Given the description of an element on the screen output the (x, y) to click on. 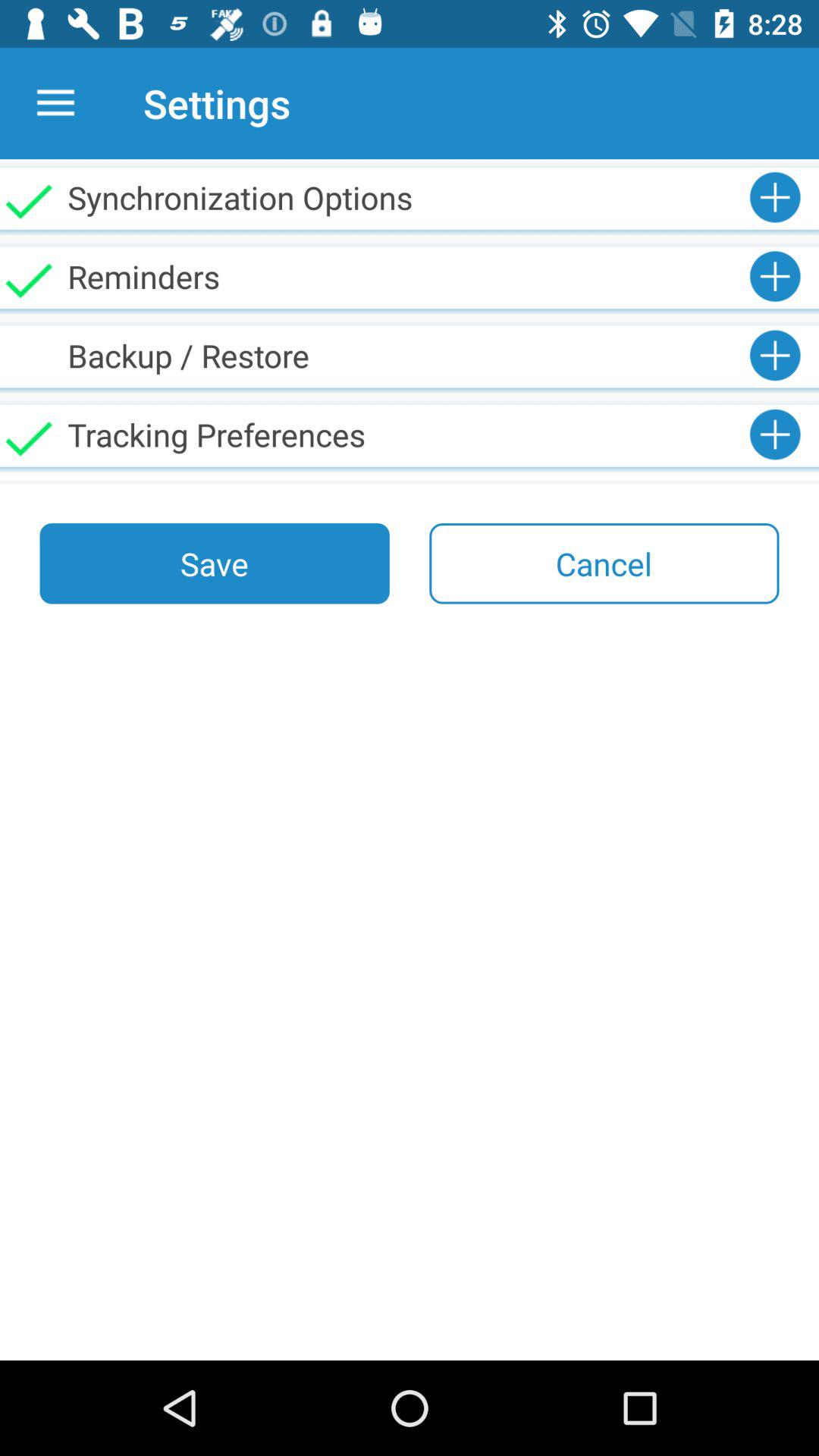
turn off the icon next to the cancel icon (214, 563)
